Given the description of an element on the screen output the (x, y) to click on. 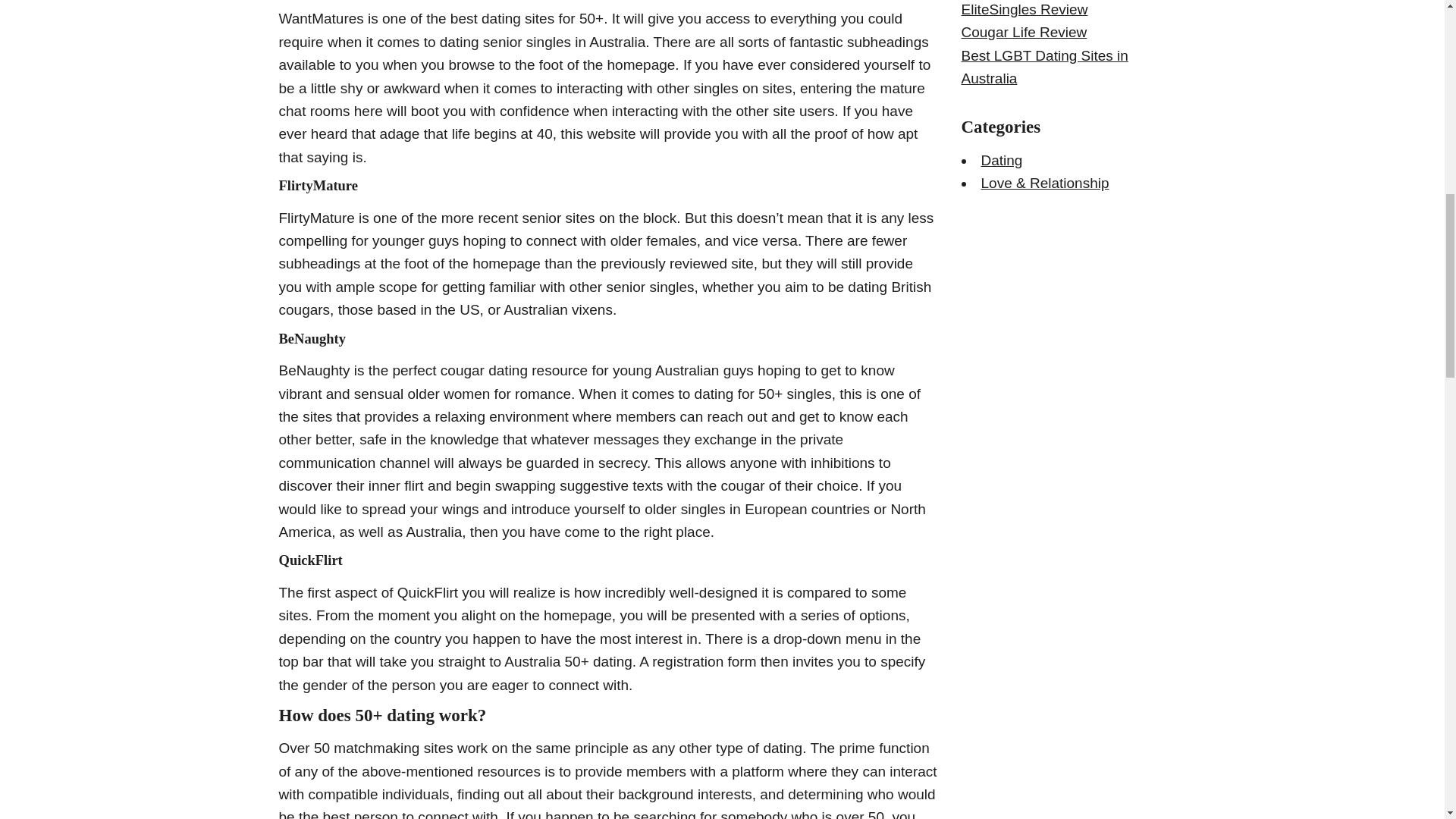
Dating (1002, 160)
Best LGBT Dating Sites in Australia (1044, 66)
EliteSingles Review (1023, 9)
Cougar Life Review (1023, 32)
